Given the description of an element on the screen output the (x, y) to click on. 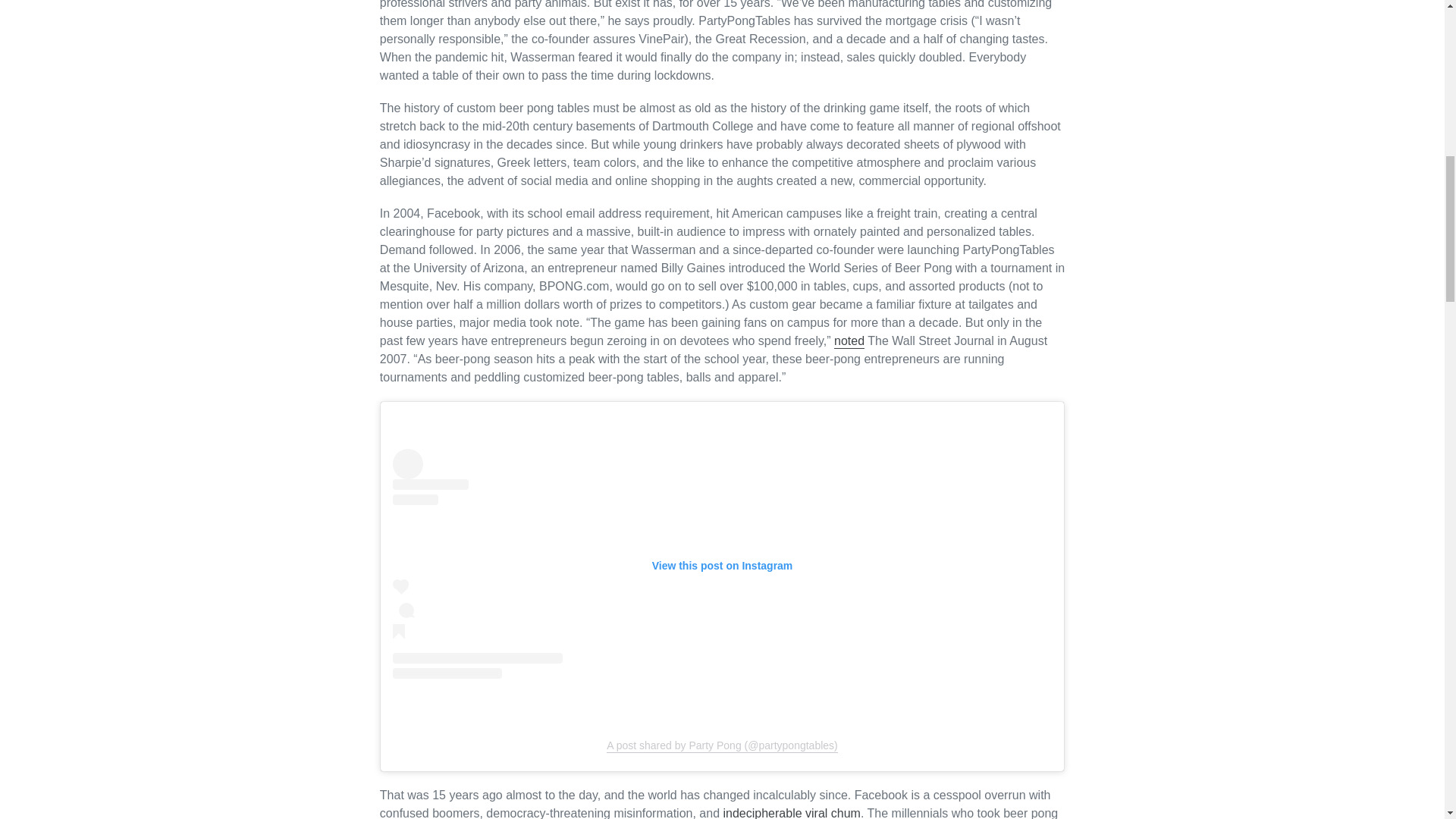
noted (849, 341)
indecipherable viral chum (791, 812)
